Given the description of an element on the screen output the (x, y) to click on. 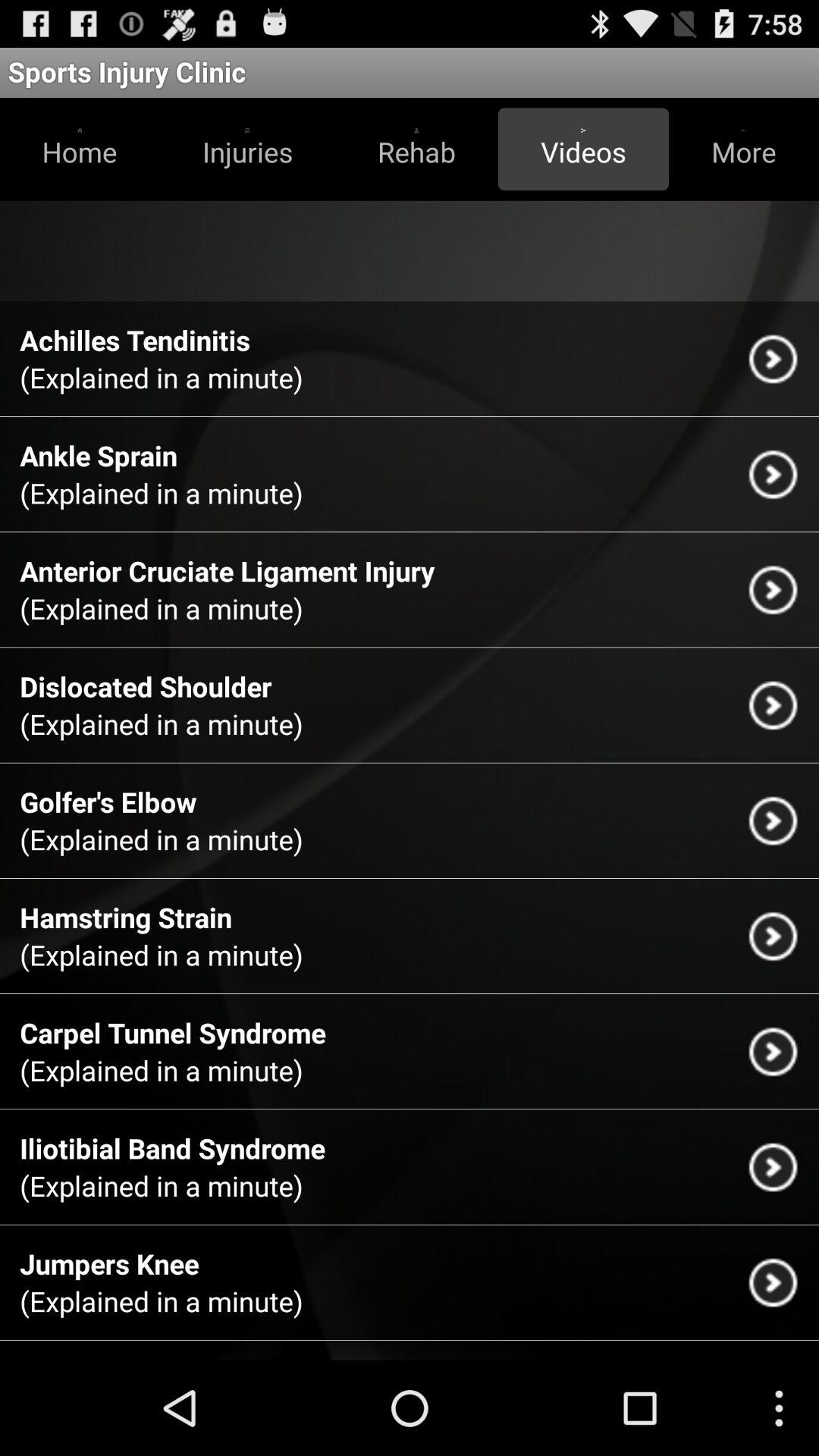
select the icon next to the videos item (416, 149)
